Given the description of an element on the screen output the (x, y) to click on. 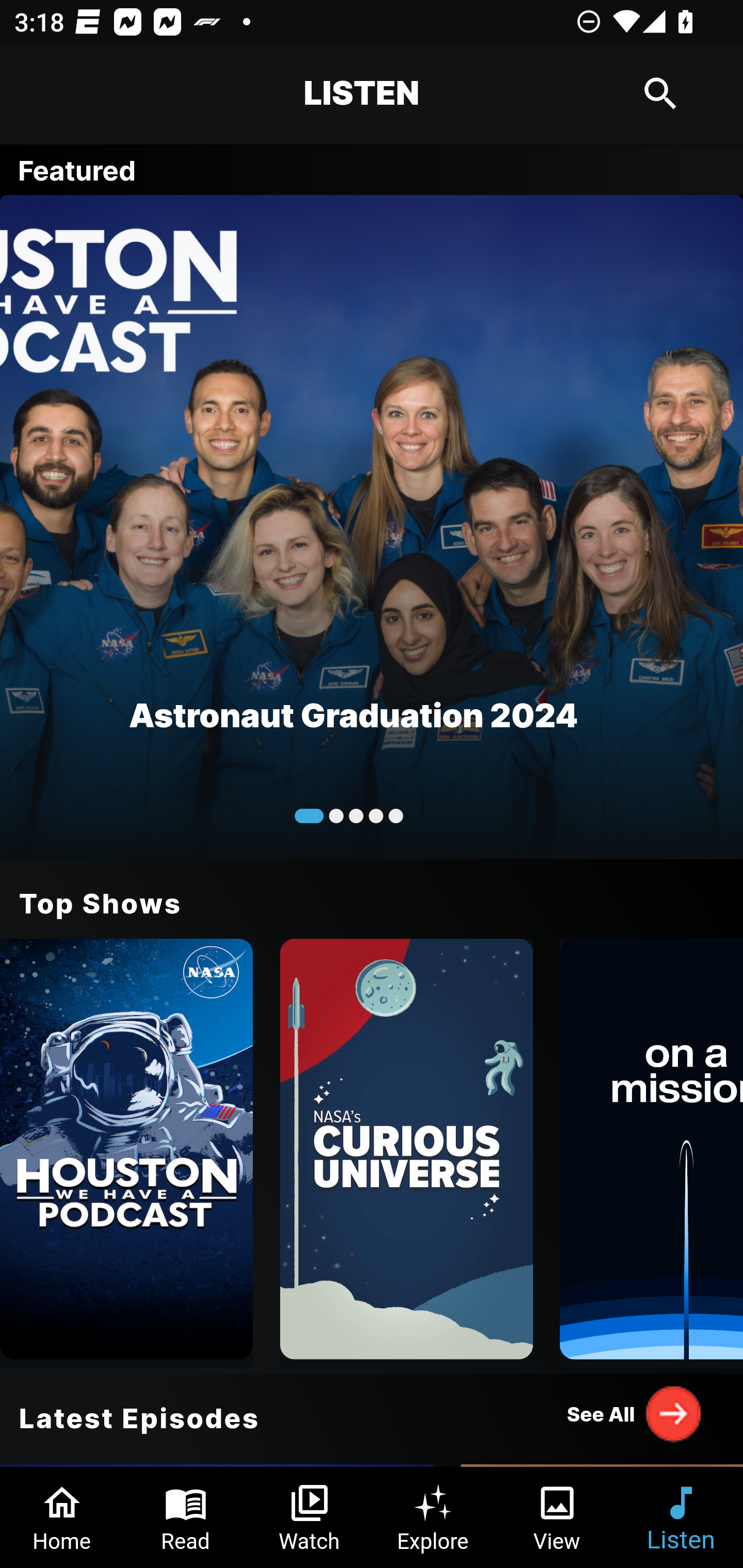
Astronaut Graduation 2024 (371, 526)
See All (634, 1413)
Home
Tab 1 of 6 (62, 1517)
Read
Tab 2 of 6 (185, 1517)
Watch
Tab 3 of 6 (309, 1517)
Explore
Tab 4 of 6 (433, 1517)
View
Tab 5 of 6 (556, 1517)
Listen
Tab 6 of 6 (680, 1517)
